Given the description of an element on the screen output the (x, y) to click on. 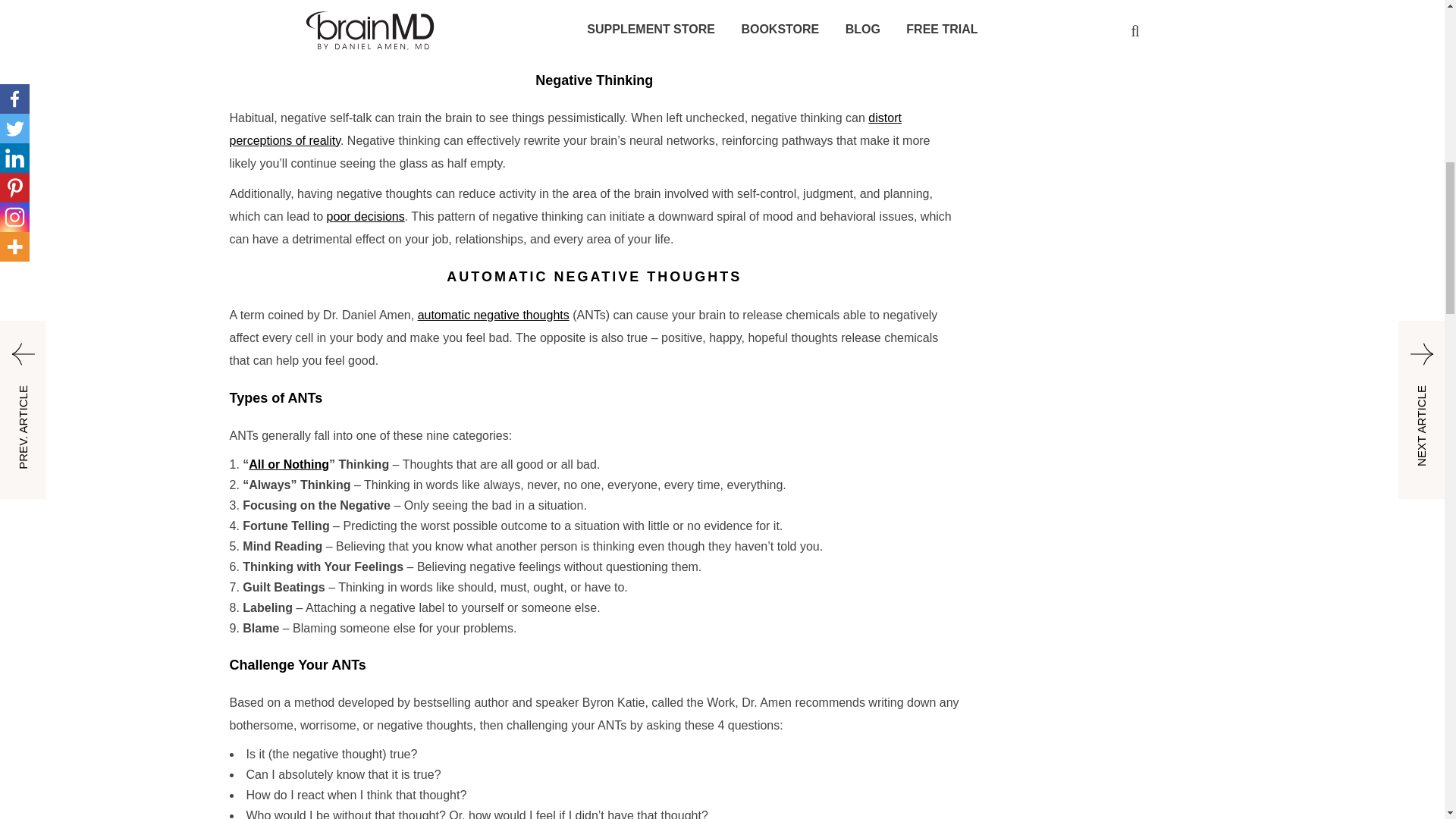
All or Nothing (288, 463)
serotonin (253, 19)
automatic negative thoughts (493, 314)
poor decisions (365, 215)
distort perceptions of reality (564, 129)
cortisol (617, 2)
